Given the description of an element on the screen output the (x, y) to click on. 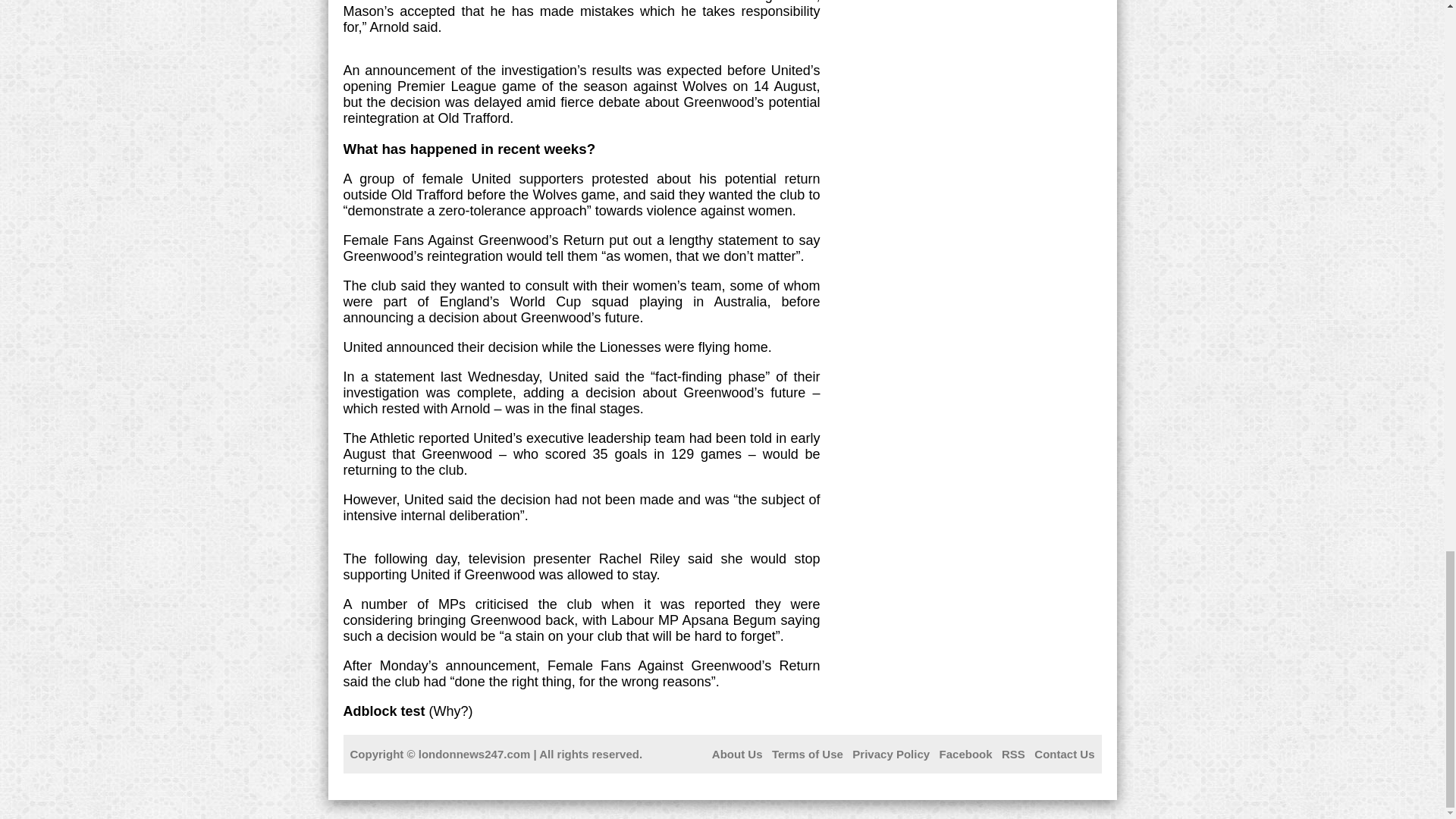
Privacy Policy (890, 753)
Rachel Riley said she would stop supporting United (580, 566)
RSS (1013, 753)
Adblock test (383, 711)
The Athletic reported (405, 437)
Terms of Use (807, 753)
About Us (736, 753)
Contact Us (1063, 753)
Facebook (965, 753)
